Given the description of an element on the screen output the (x, y) to click on. 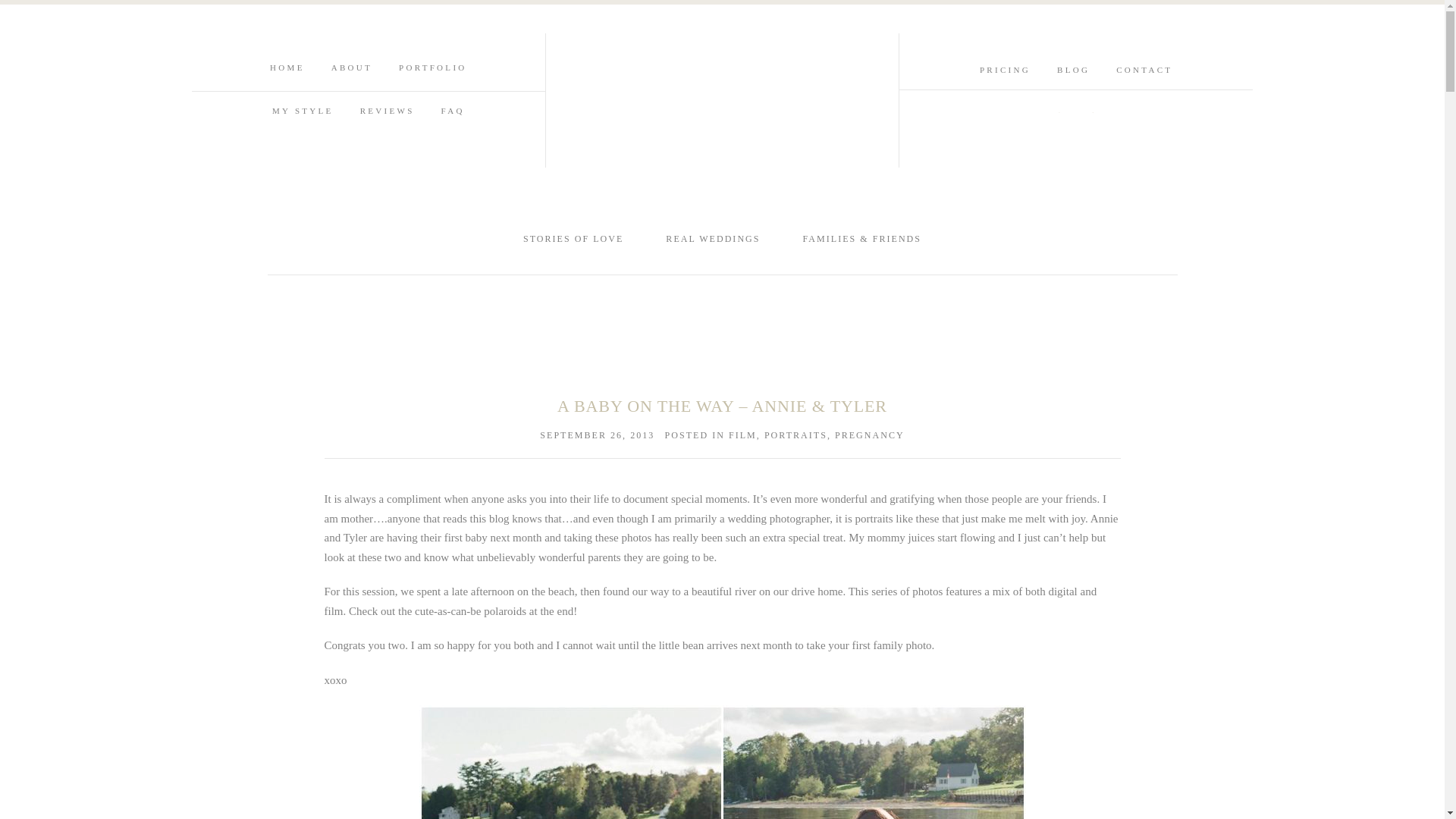
BLOG (1073, 69)
PORTRAITS (795, 434)
PORTFOLIO (432, 67)
FAQ (452, 110)
REVIEWS (386, 110)
C (1093, 111)
PRICING (1004, 69)
PREGNANCY (869, 434)
STORIES OF LOVE (572, 238)
ABOUT (351, 67)
A (1059, 111)
FILM (743, 434)
HOME (286, 67)
CONTACT (1144, 69)
MY STYLE (302, 110)
